Given the description of an element on the screen output the (x, y) to click on. 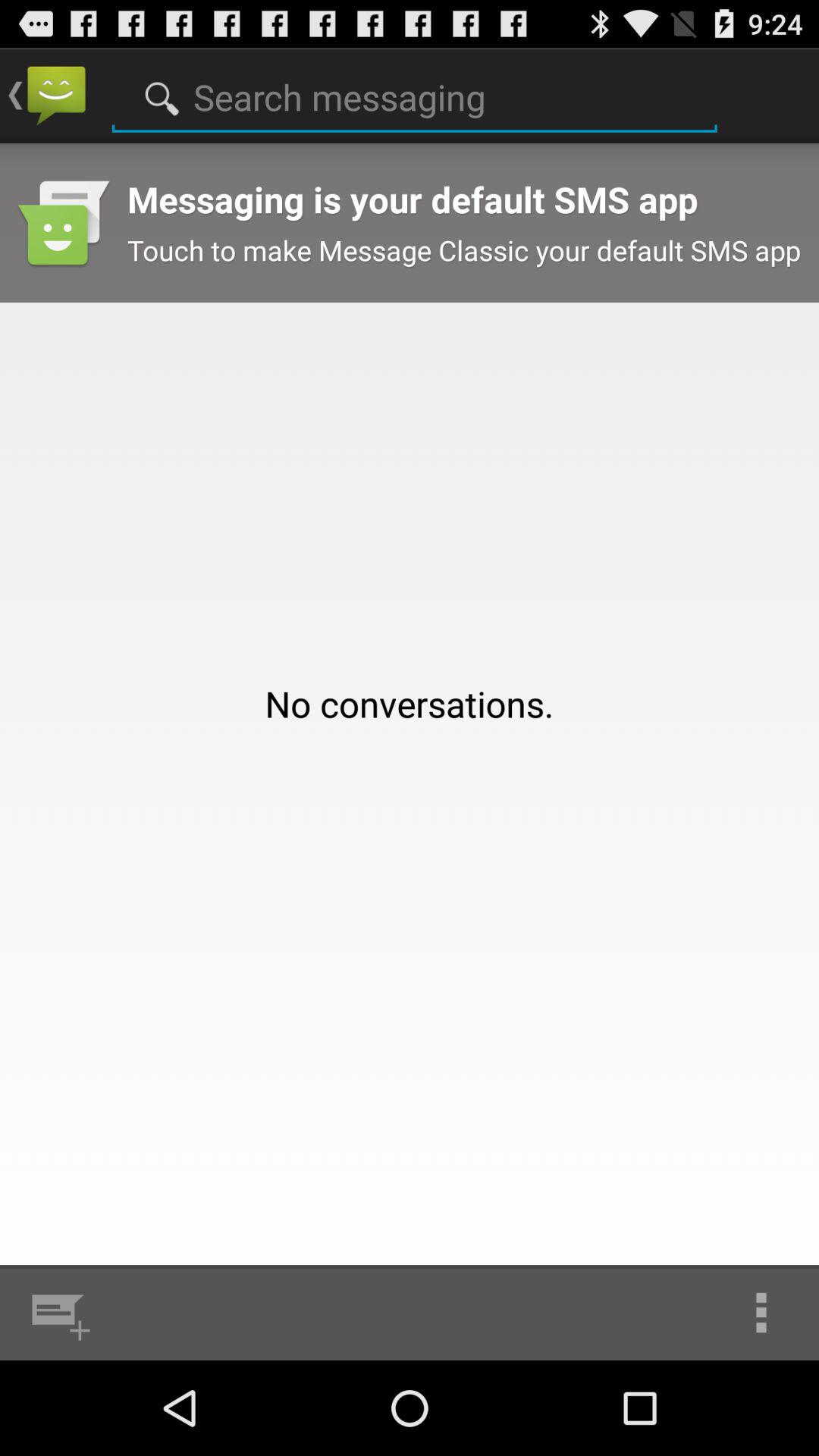
launch icon at the bottom left corner (58, 1312)
